Given the description of an element on the screen output the (x, y) to click on. 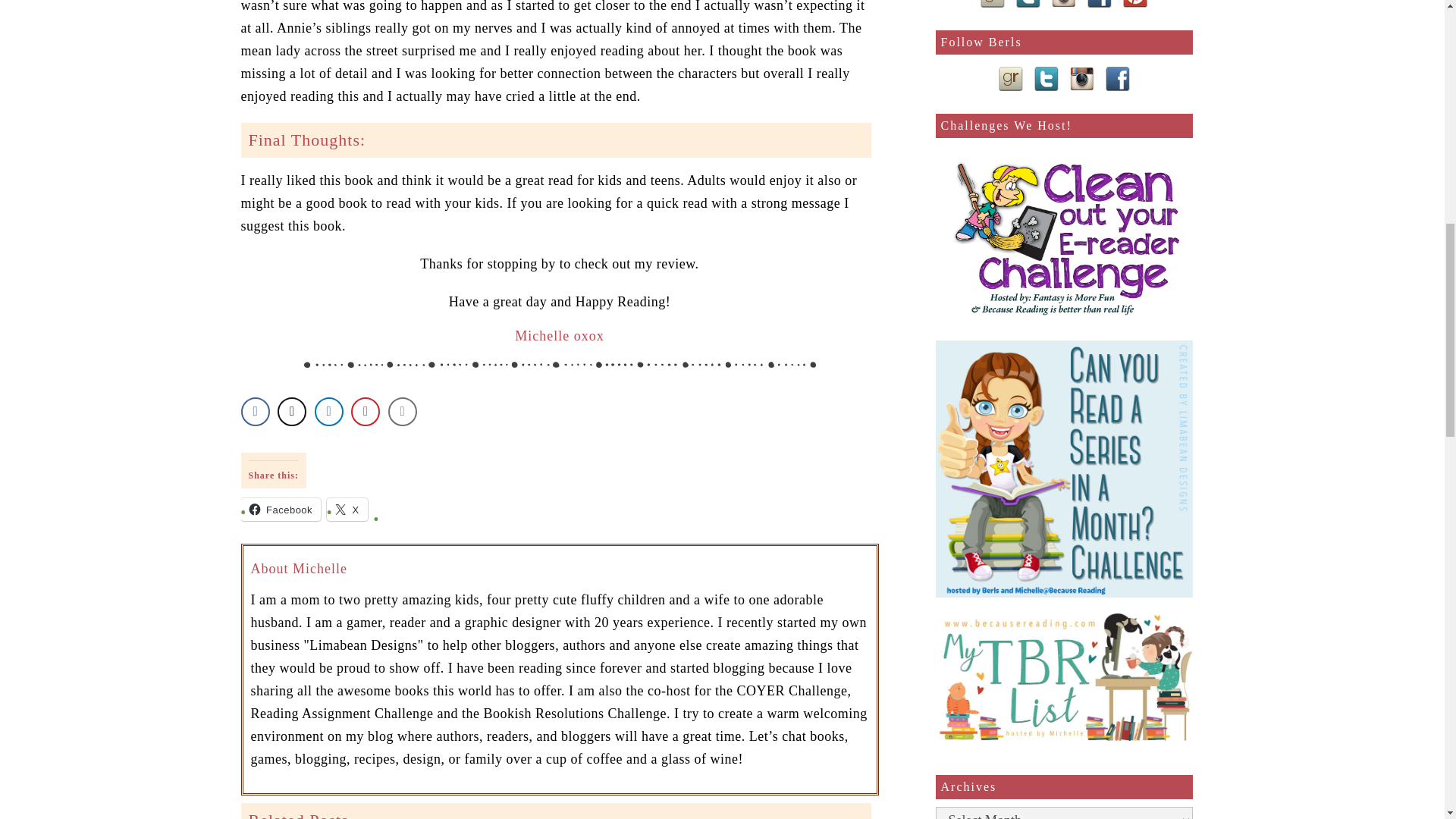
Click to share on X (347, 508)
Facebook (281, 508)
Click to share on Facebook (281, 508)
X (347, 508)
